Given the description of an element on the screen output the (x, y) to click on. 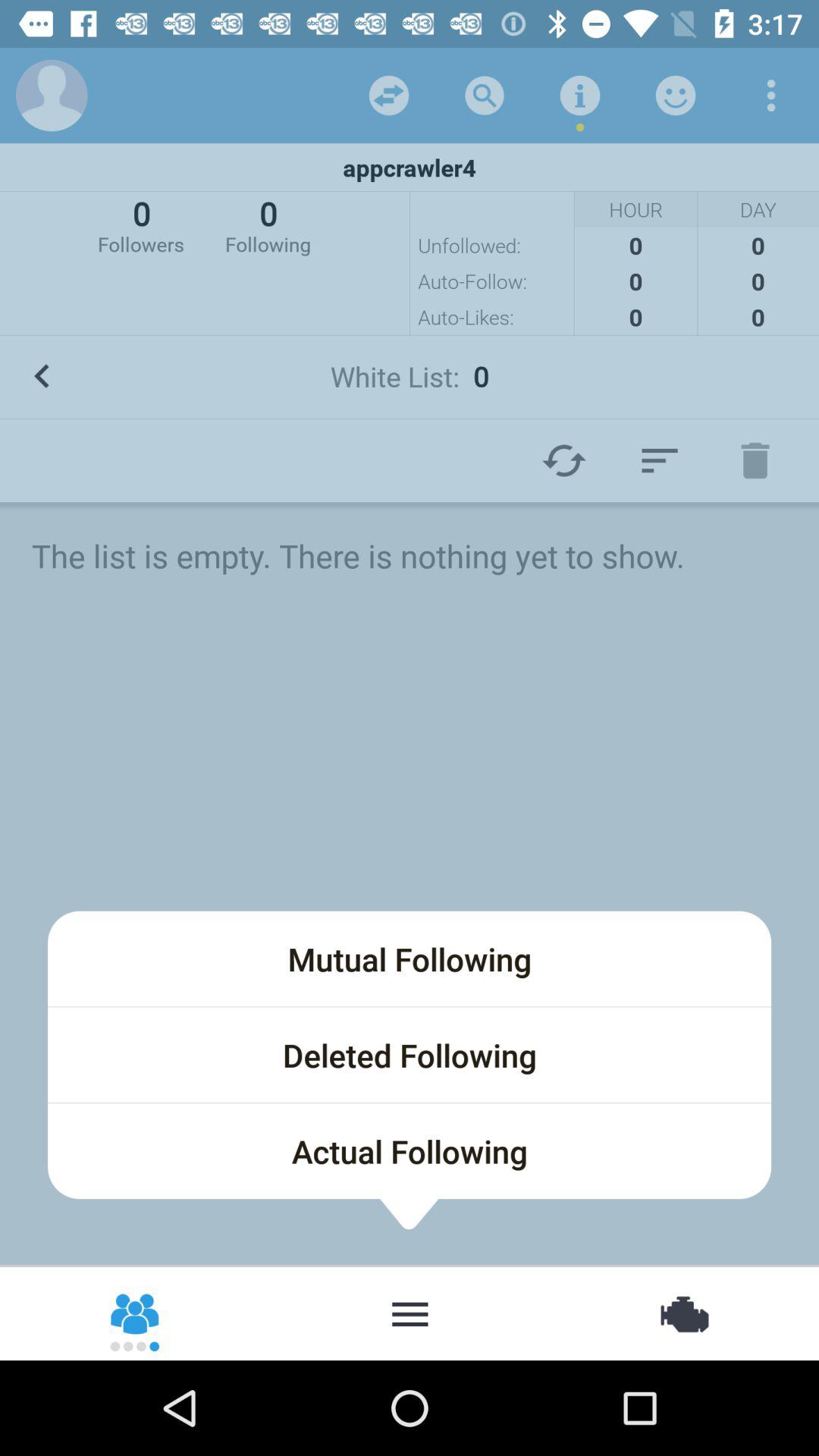
mutual following deleted following and actual following share with friends (136, 1312)
